Given the description of an element on the screen output the (x, y) to click on. 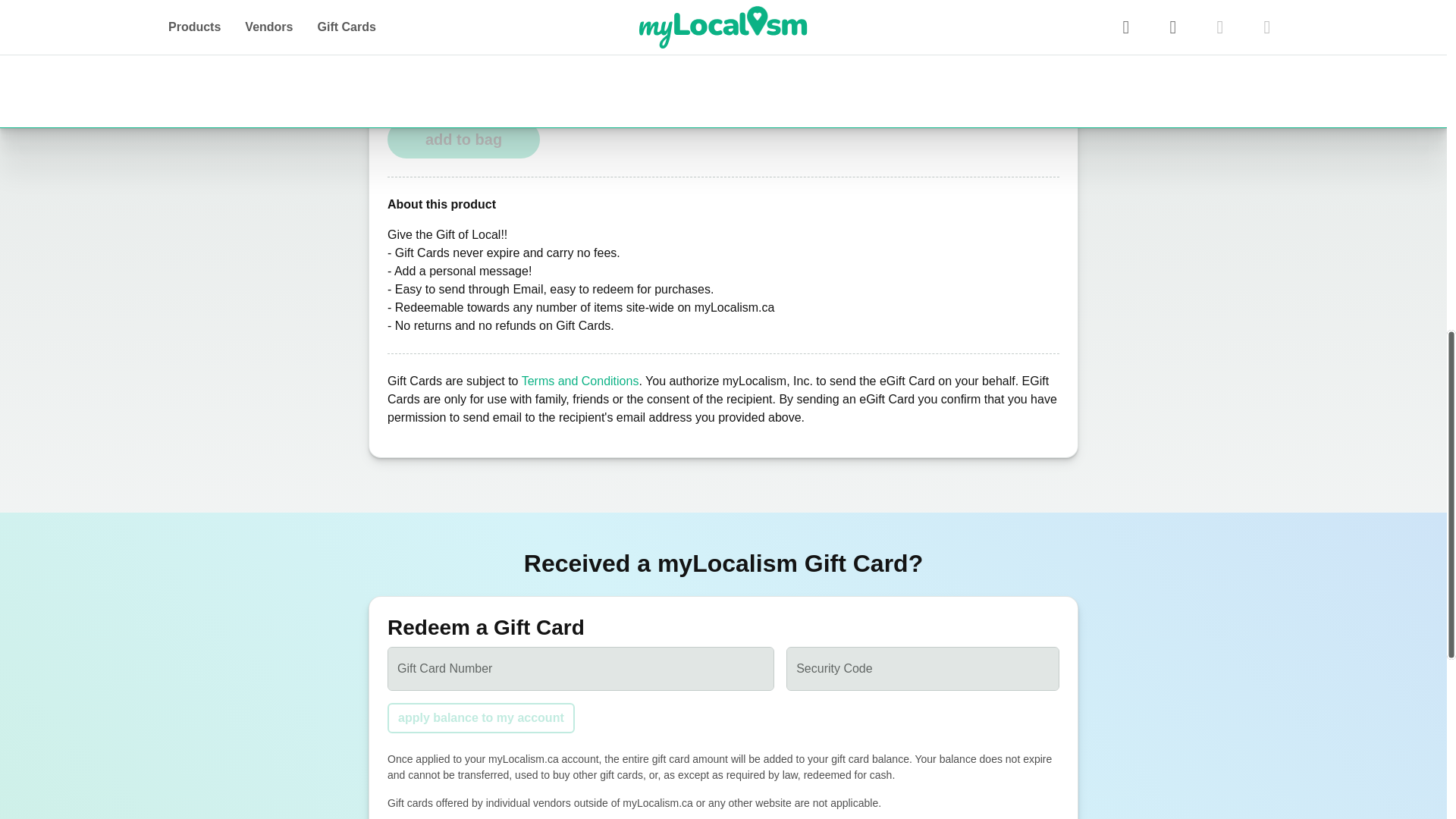
back to top (1420, 14)
Shopping Bag (463, 139)
